Given the description of an element on the screen output the (x, y) to click on. 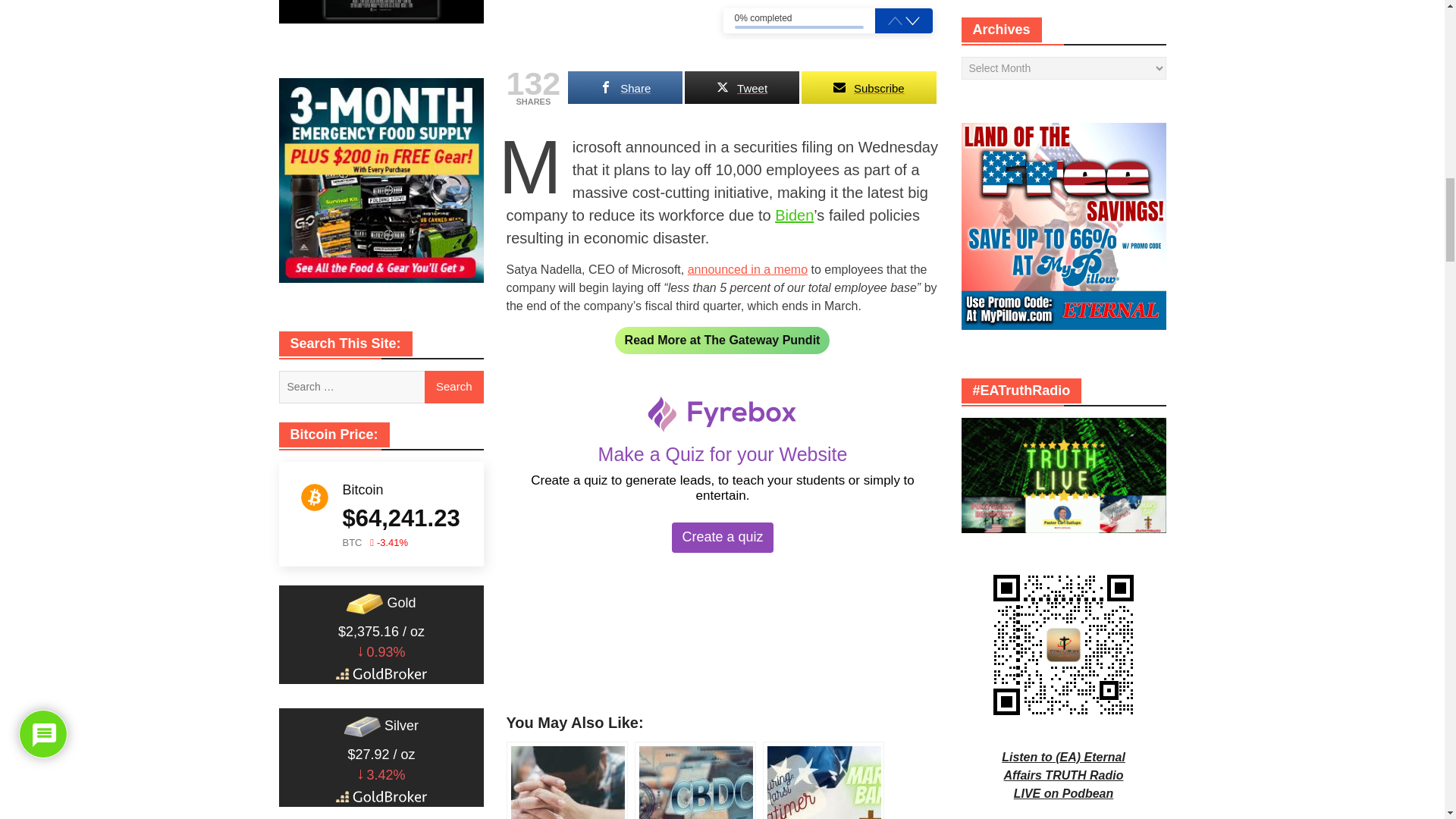
Search (454, 387)
Search (454, 387)
